Given the description of an element on the screen output the (x, y) to click on. 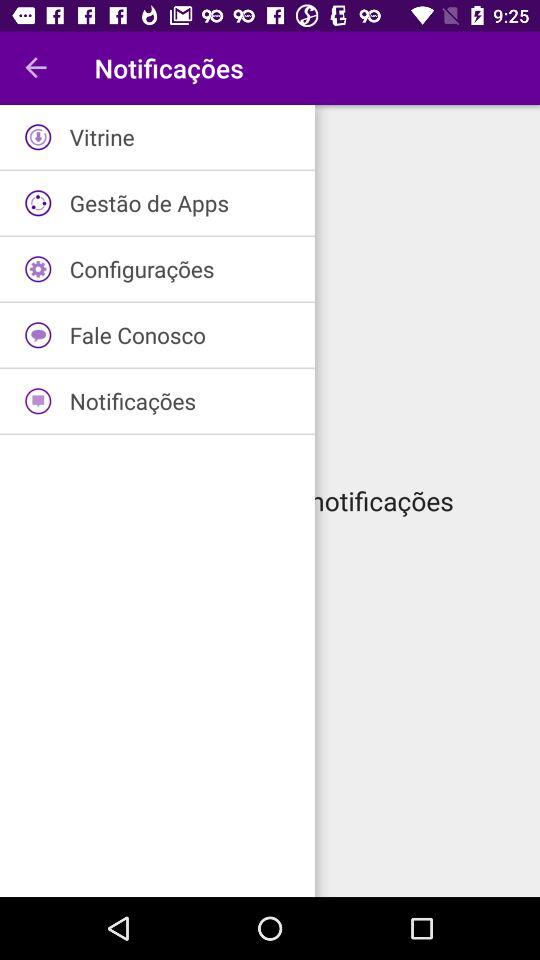
select  chat symbol (38, 335)
go to icon left side of vitrine (38, 136)
click on the icon which is in fifth row (38, 400)
click on the symbol which is above fale conosco (38, 269)
